Given the description of an element on the screen output the (x, y) to click on. 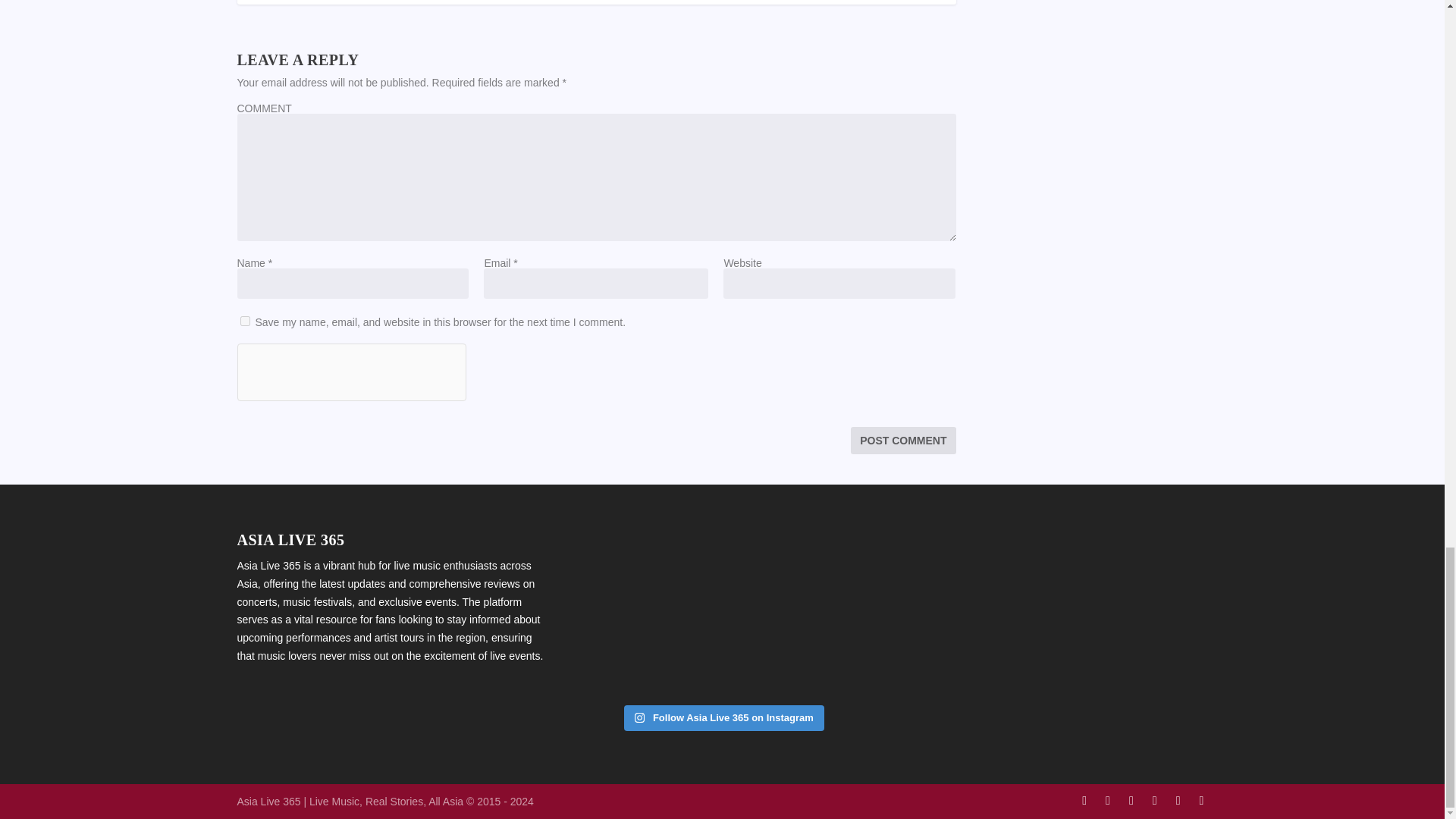
Post Comment (902, 440)
yes (244, 320)
